Given the description of an element on the screen output the (x, y) to click on. 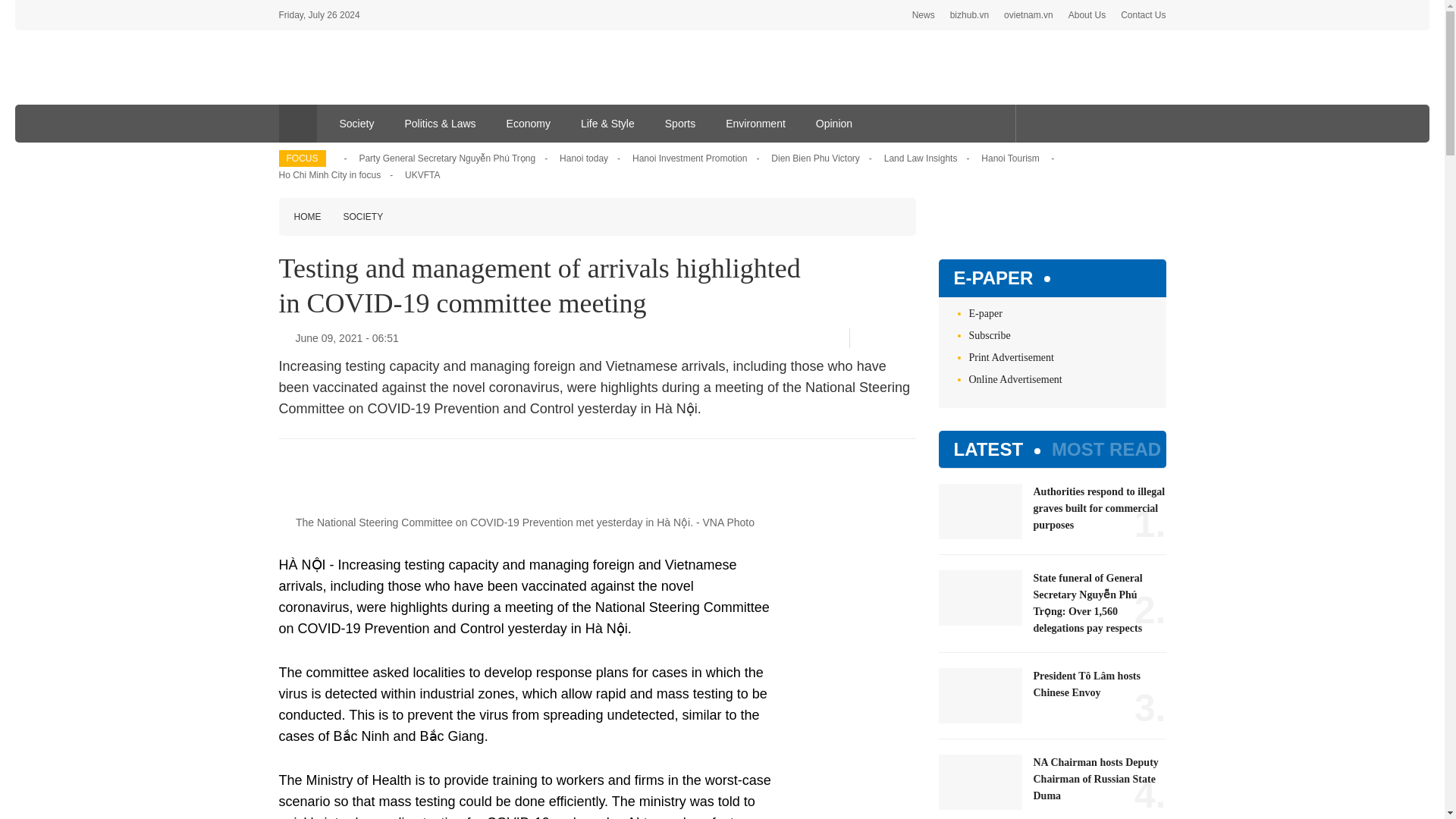
Email (909, 338)
Facebook (1035, 123)
Instagram (1106, 123)
News (923, 15)
Opinion (833, 123)
bizhub.vn (969, 15)
Contact Us (1143, 15)
About Us (1086, 15)
Environment (755, 123)
Economy (529, 123)
ovietnam.vn (1028, 15)
Facebook (865, 337)
Twitter (885, 337)
Twitter (1056, 122)
Society (357, 123)
